Given the description of an element on the screen output the (x, y) to click on. 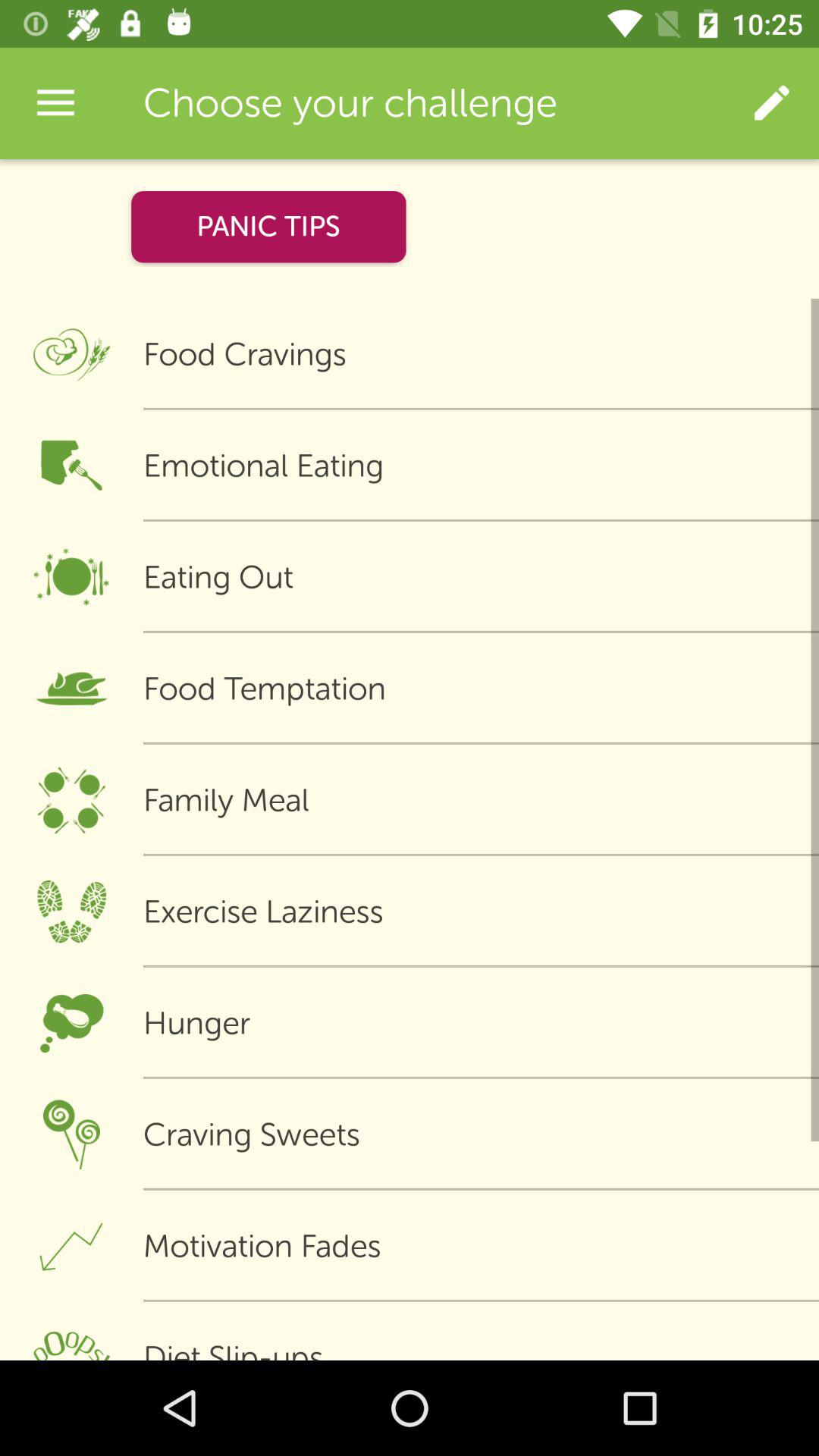
select item above the food cravings icon (771, 103)
